Given the description of an element on the screen output the (x, y) to click on. 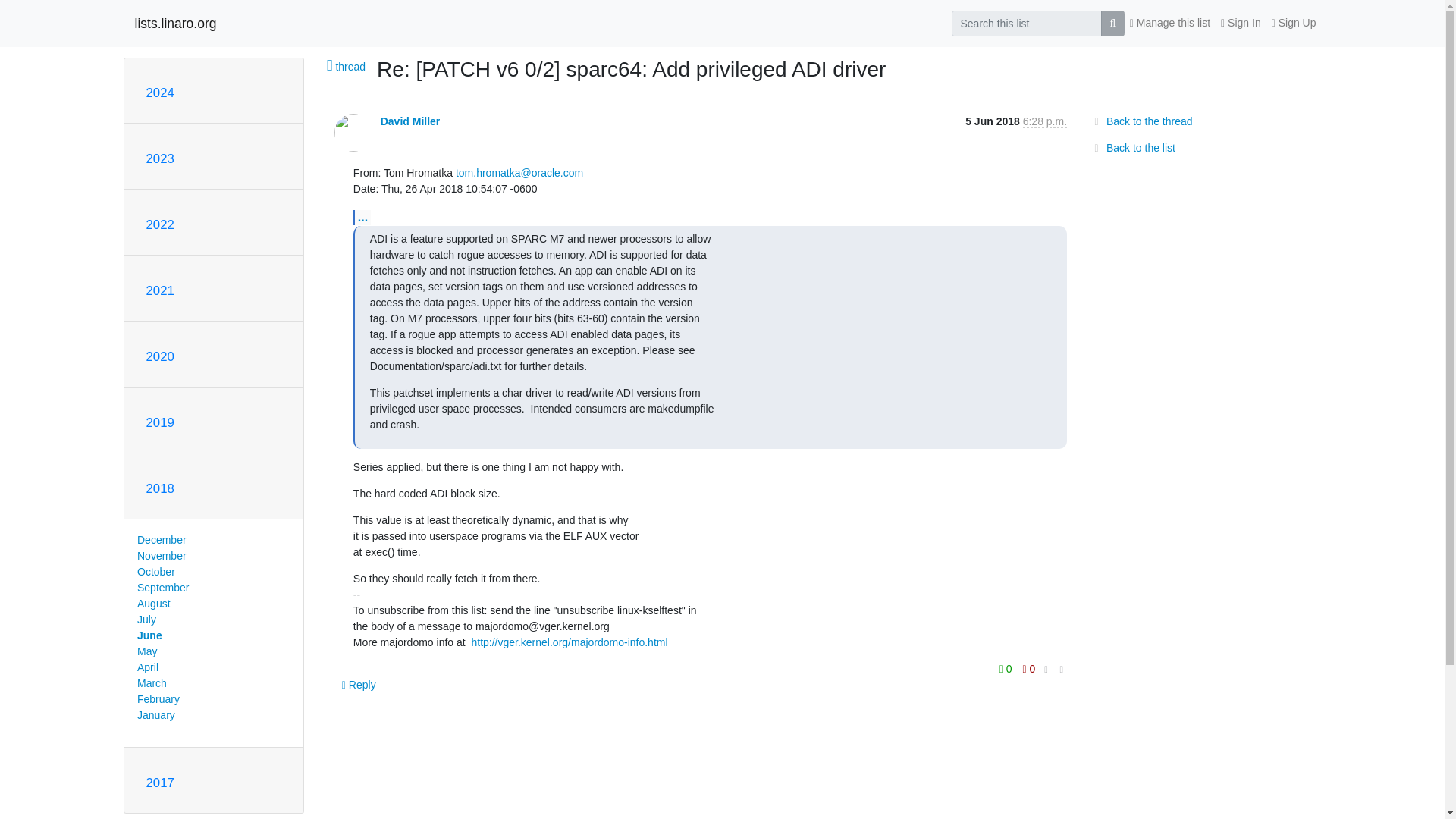
2023 (159, 158)
2024 (159, 92)
Sign Up (1294, 22)
See the profile for David Miller (410, 121)
lists.linaro.org (175, 22)
Manage this list (1169, 22)
2022 (159, 224)
You must be logged-in to vote. (1007, 668)
Sign in to reply online (359, 684)
Sign In (1240, 22)
